Given the description of an element on the screen output the (x, y) to click on. 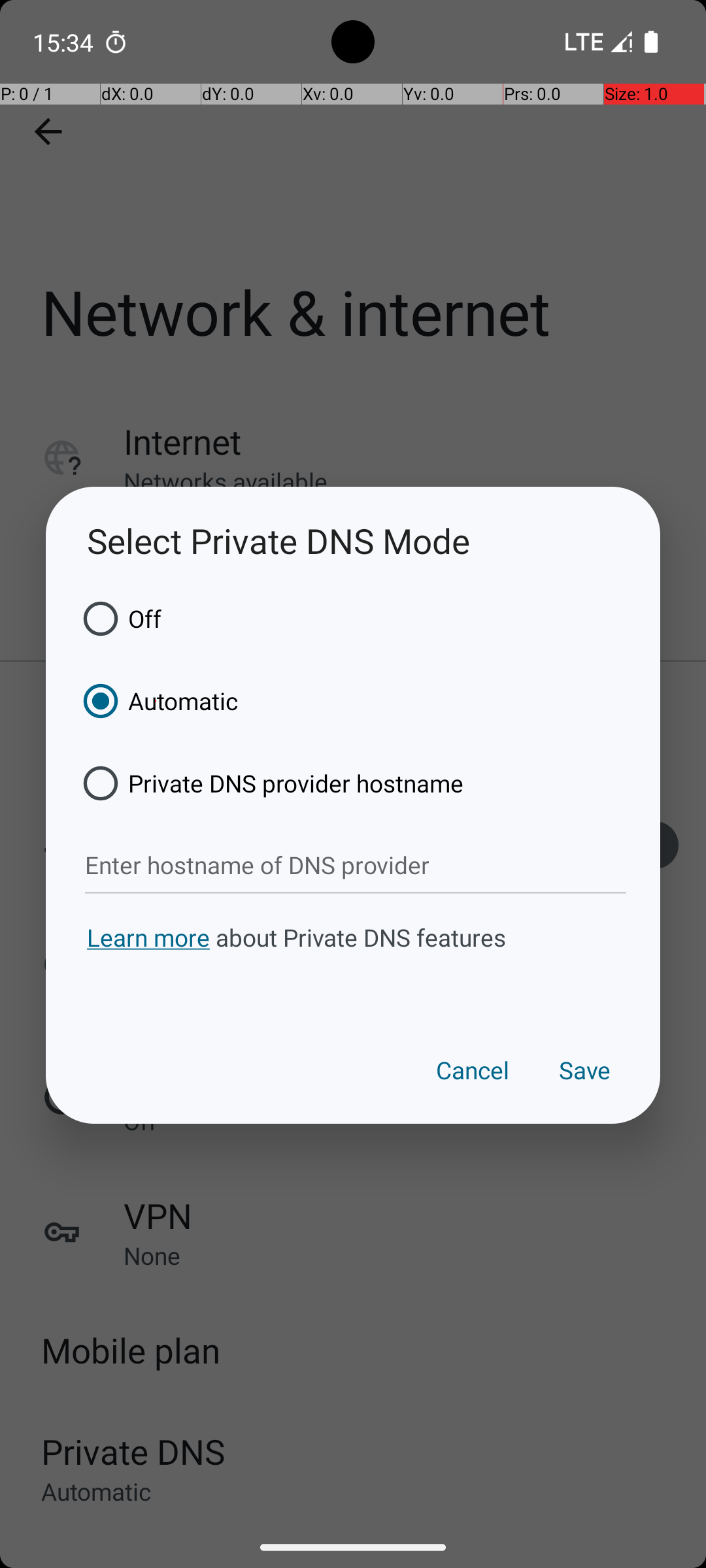
Select Private DNS Mode Element type: android.widget.TextView (352, 540)
Learn more about Private DNS features Element type: android.widget.TextView (352, 961)
Private DNS provider hostname Element type: android.widget.RadioButton (268, 783)
Enter hostname of DNS provider Element type: android.widget.EditText (355, 865)
